Given the description of an element on the screen output the (x, y) to click on. 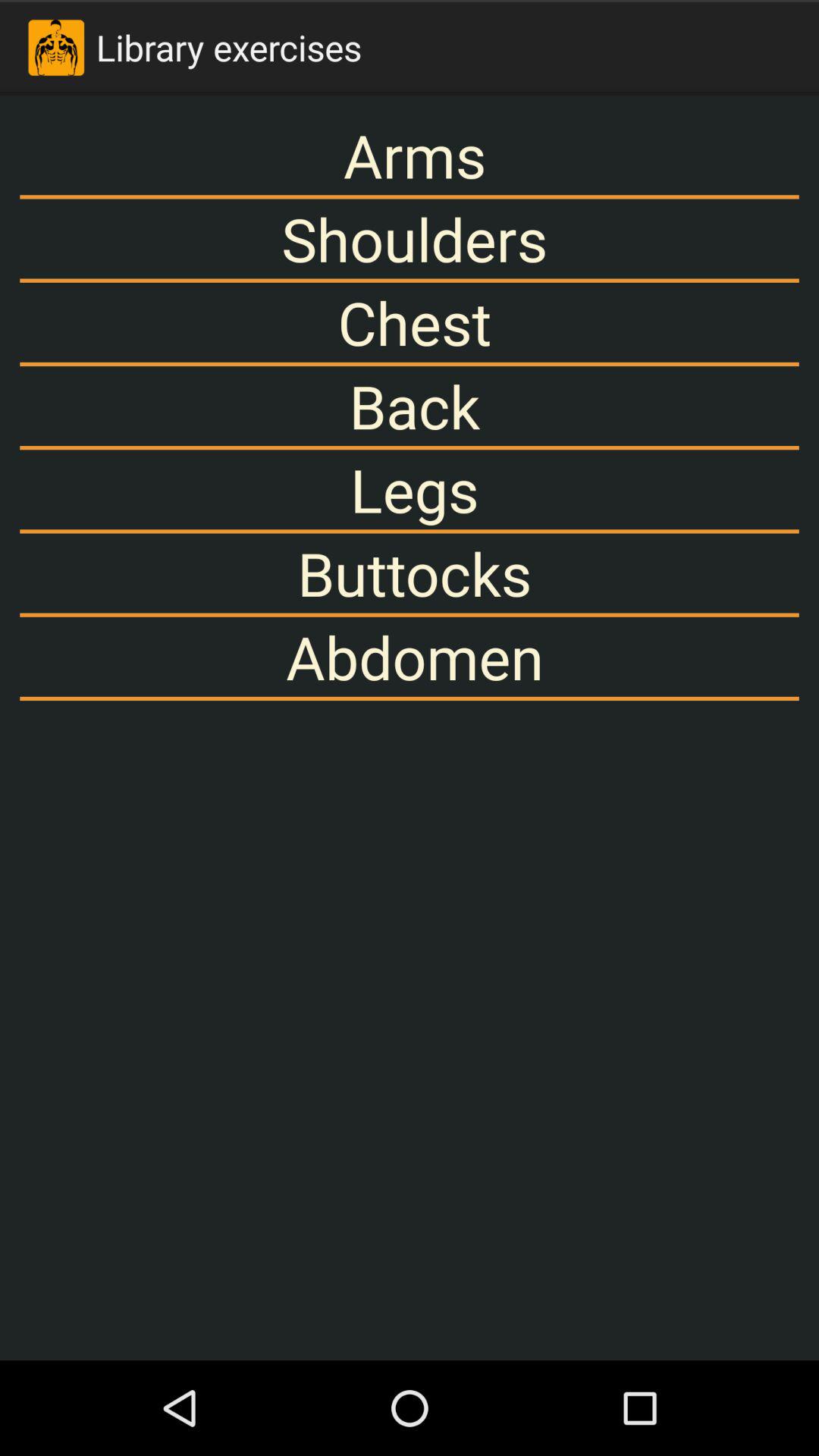
click the item above the back icon (409, 322)
